Given the description of an element on the screen output the (x, y) to click on. 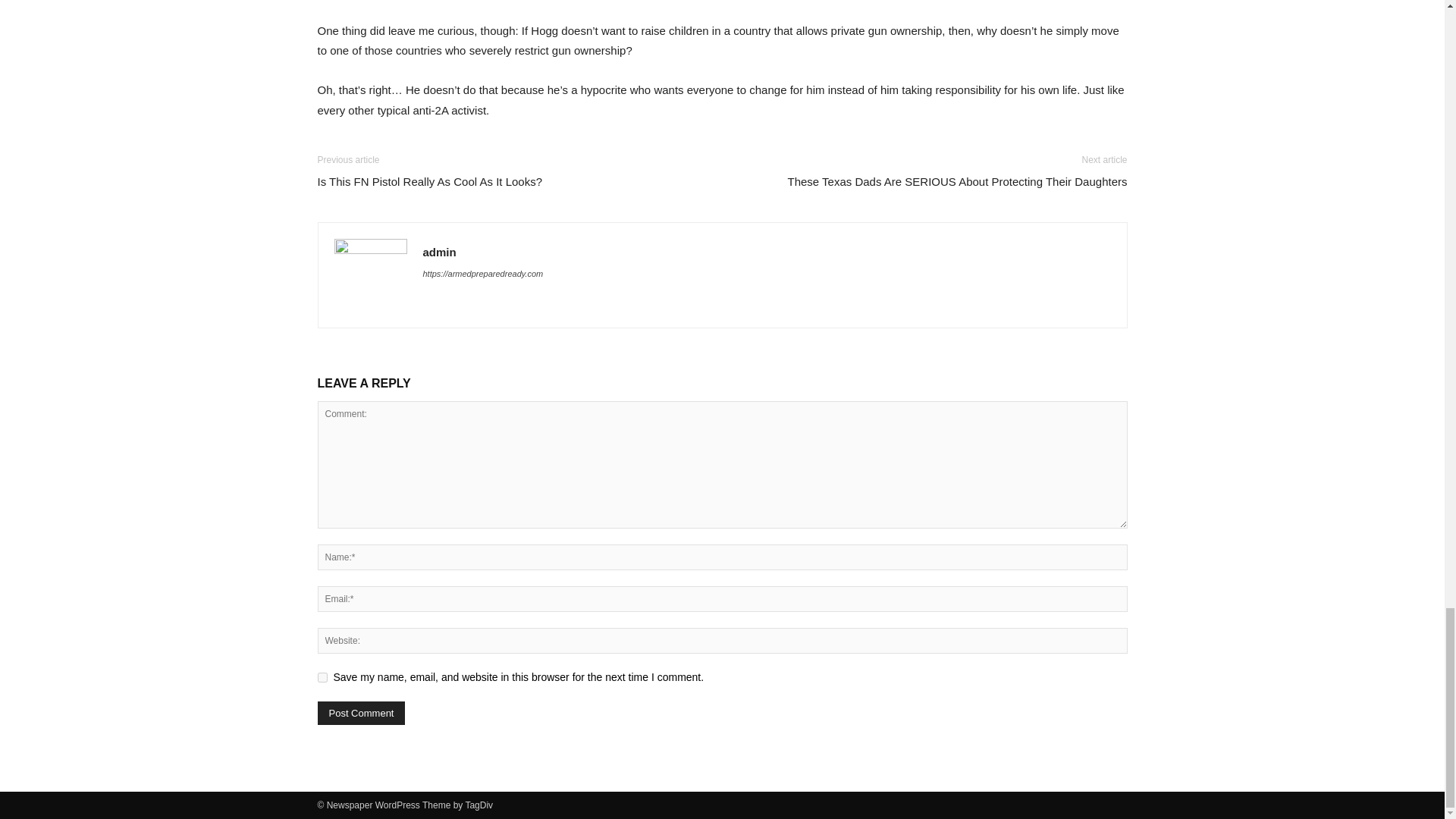
Post Comment (360, 712)
admin (440, 251)
Post Comment (360, 712)
Is This FN Pistol Really As Cool As It Looks? (429, 181)
yes (321, 677)
